Given the description of an element on the screen output the (x, y) to click on. 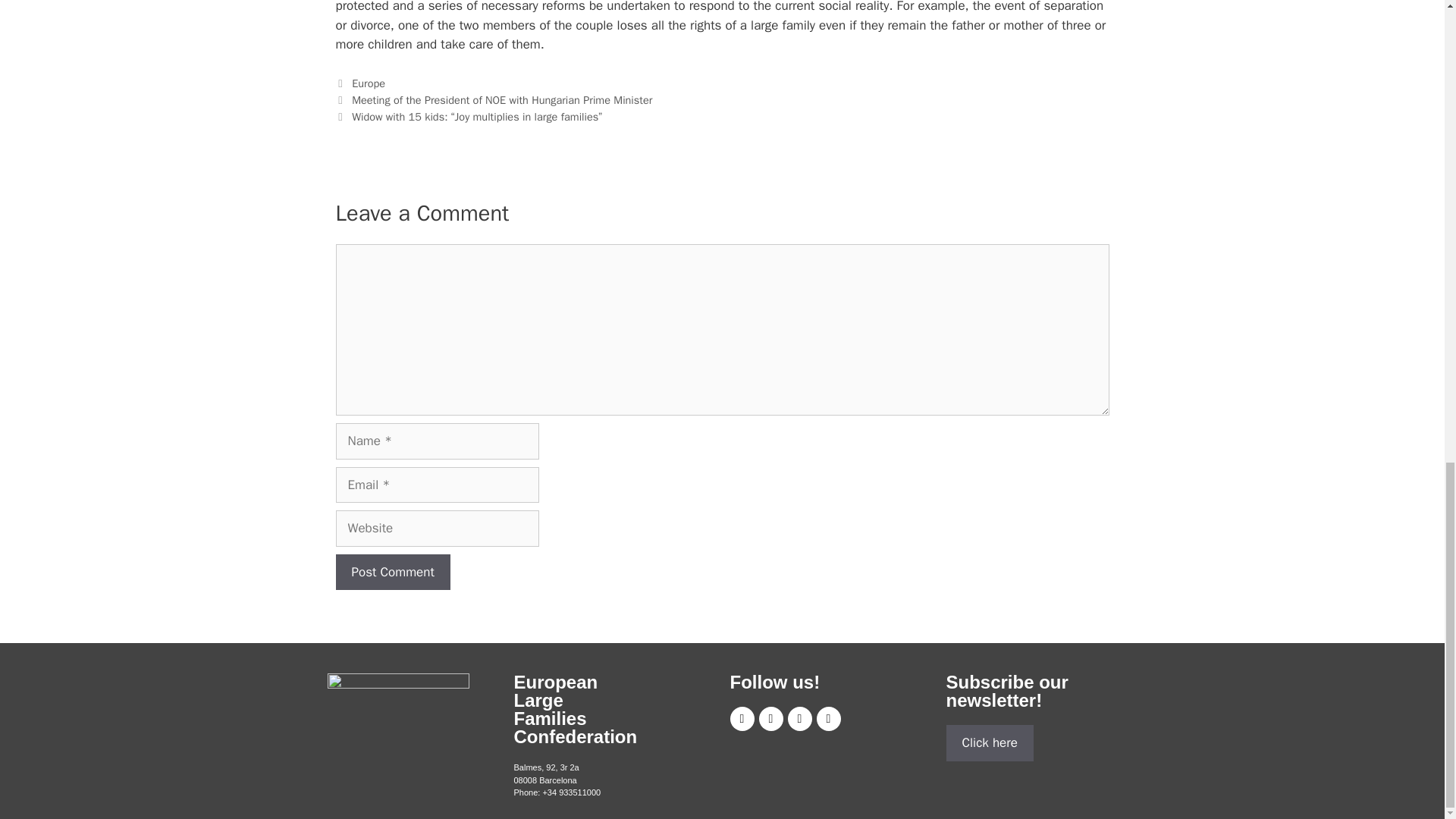
Post Comment (391, 572)
